Given the description of an element on the screen output the (x, y) to click on. 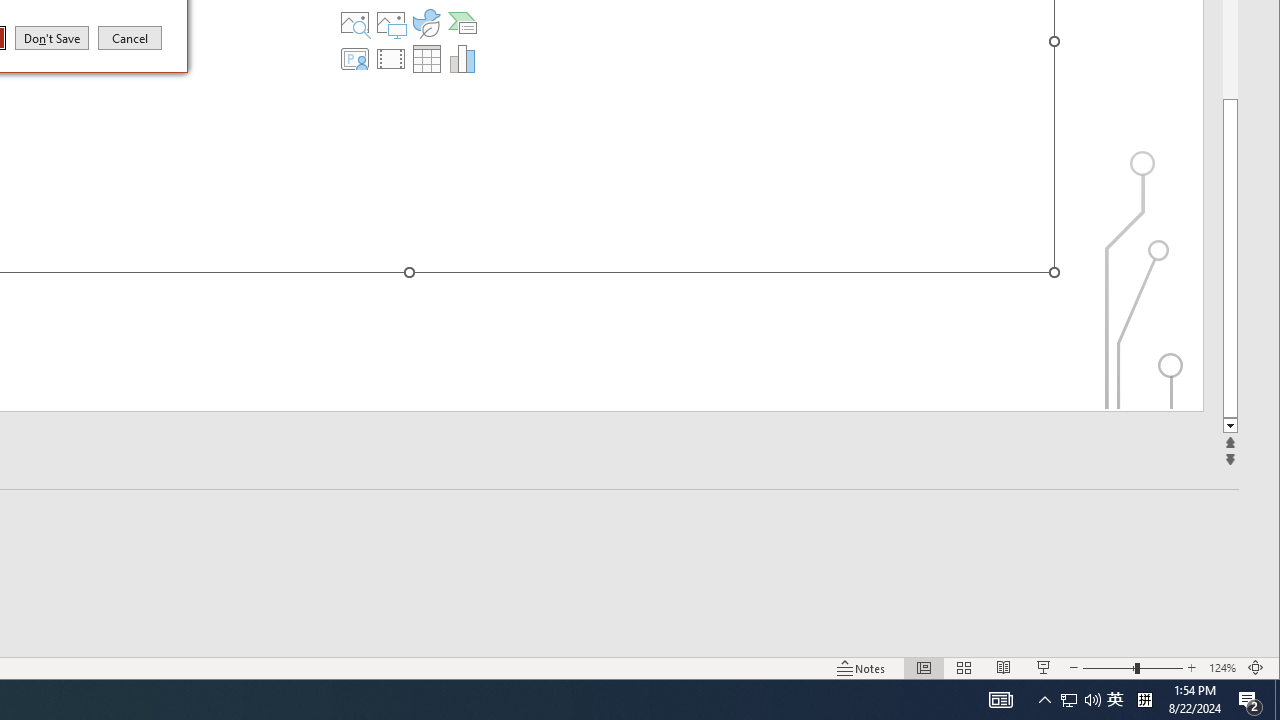
Insert an Icon (426, 22)
Don't Save (52, 37)
Cancel (130, 37)
AutomationID: 4105 (1000, 699)
Notification Chevron (1044, 699)
Insert Video (391, 58)
Insert Cameo (355, 58)
Line down (1230, 426)
Insert a SmartArt Graphic (462, 22)
Insert Chart (462, 58)
Q2790: 100% (1092, 699)
Pictures (391, 22)
